Given the description of an element on the screen output the (x, y) to click on. 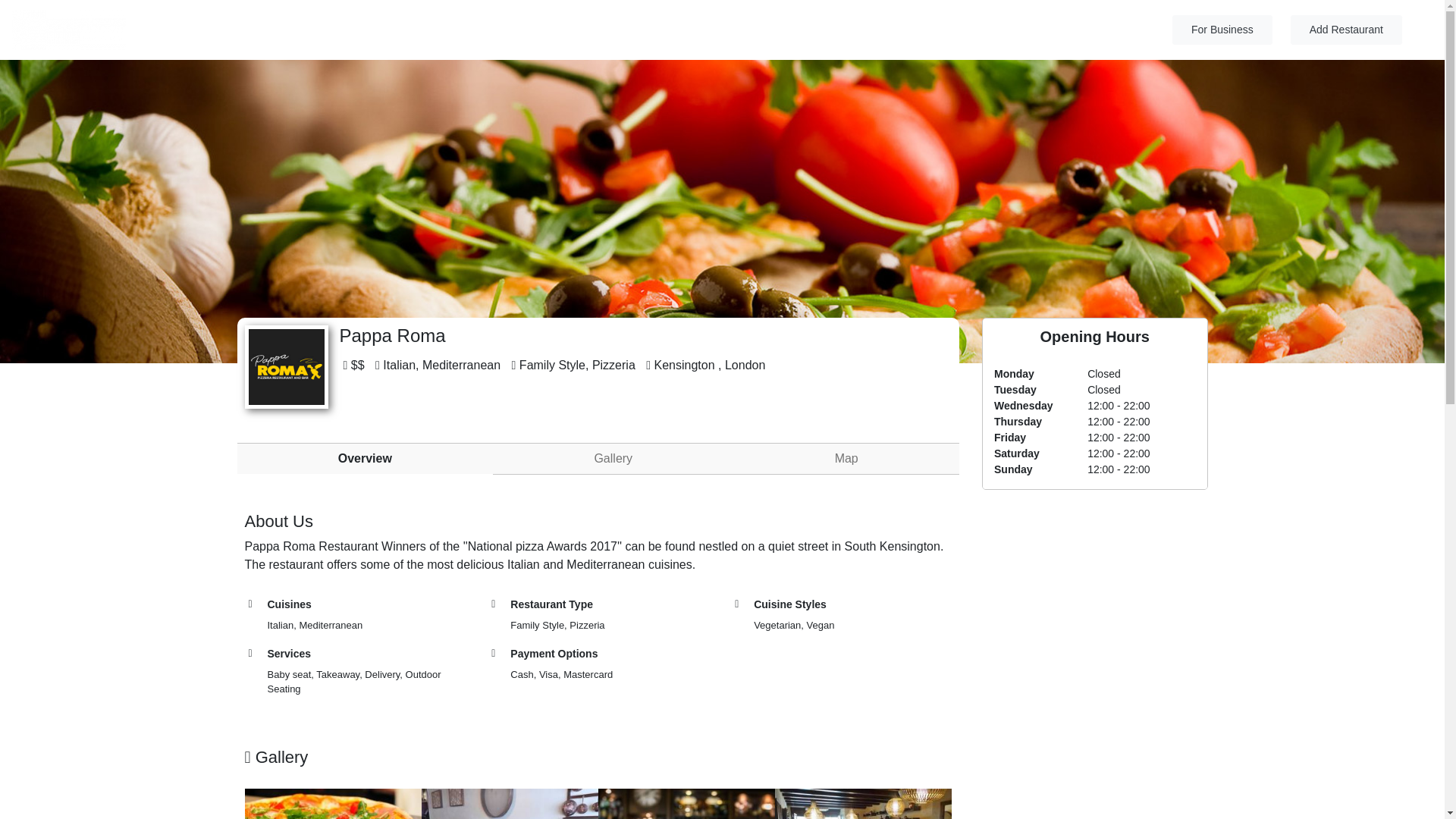
Add Restaurant (1346, 30)
Family Style (552, 364)
Gallery (613, 459)
Mediterranean (461, 364)
Kensington (683, 364)
For Business (1222, 30)
Map (846, 459)
Pappa Roma (286, 366)
Overview (364, 458)
Italian (398, 364)
